Given the description of an element on the screen output the (x, y) to click on. 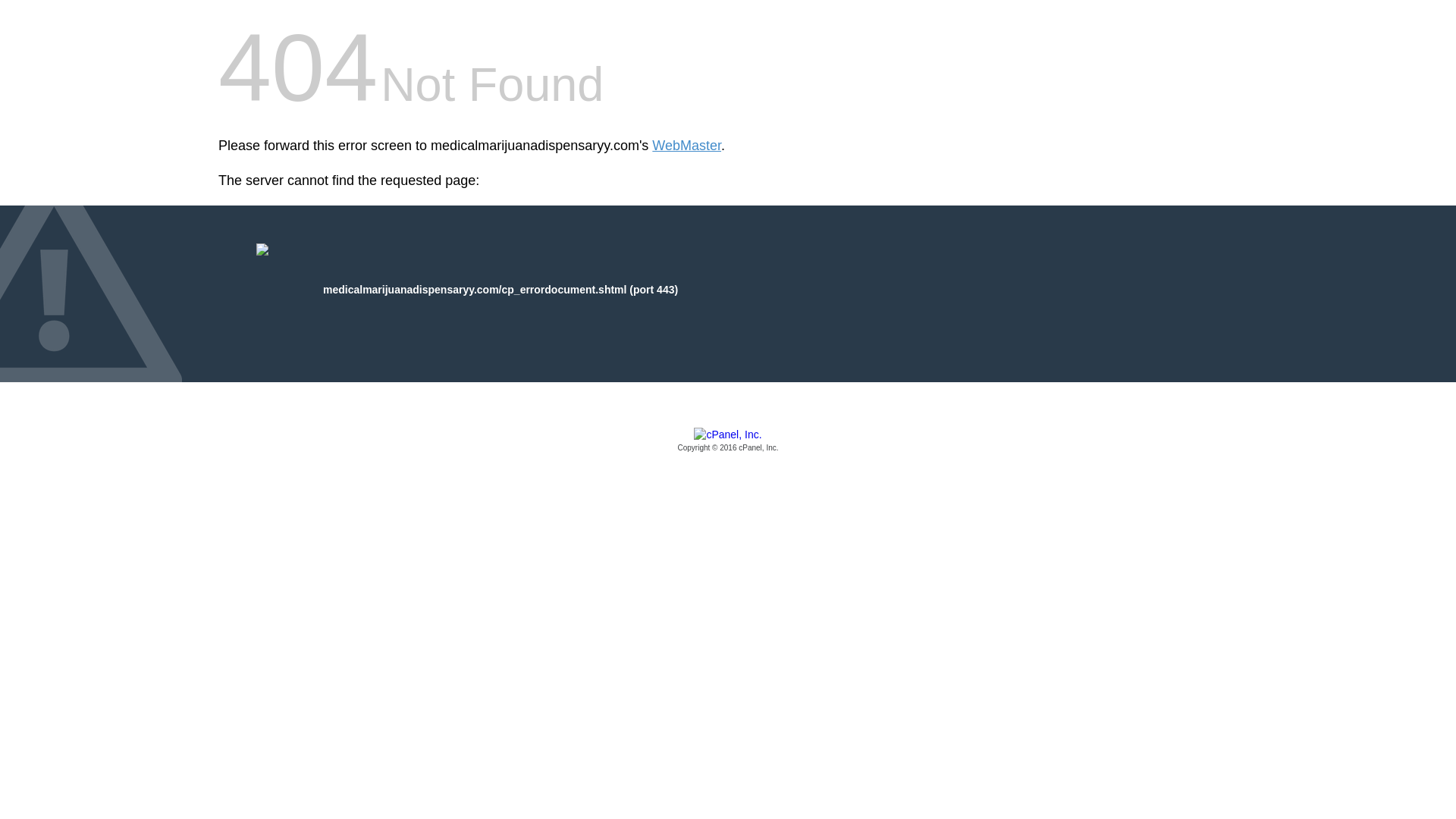
cPanel, Inc. (727, 440)
WebMaster (686, 145)
